Given the description of an element on the screen output the (x, y) to click on. 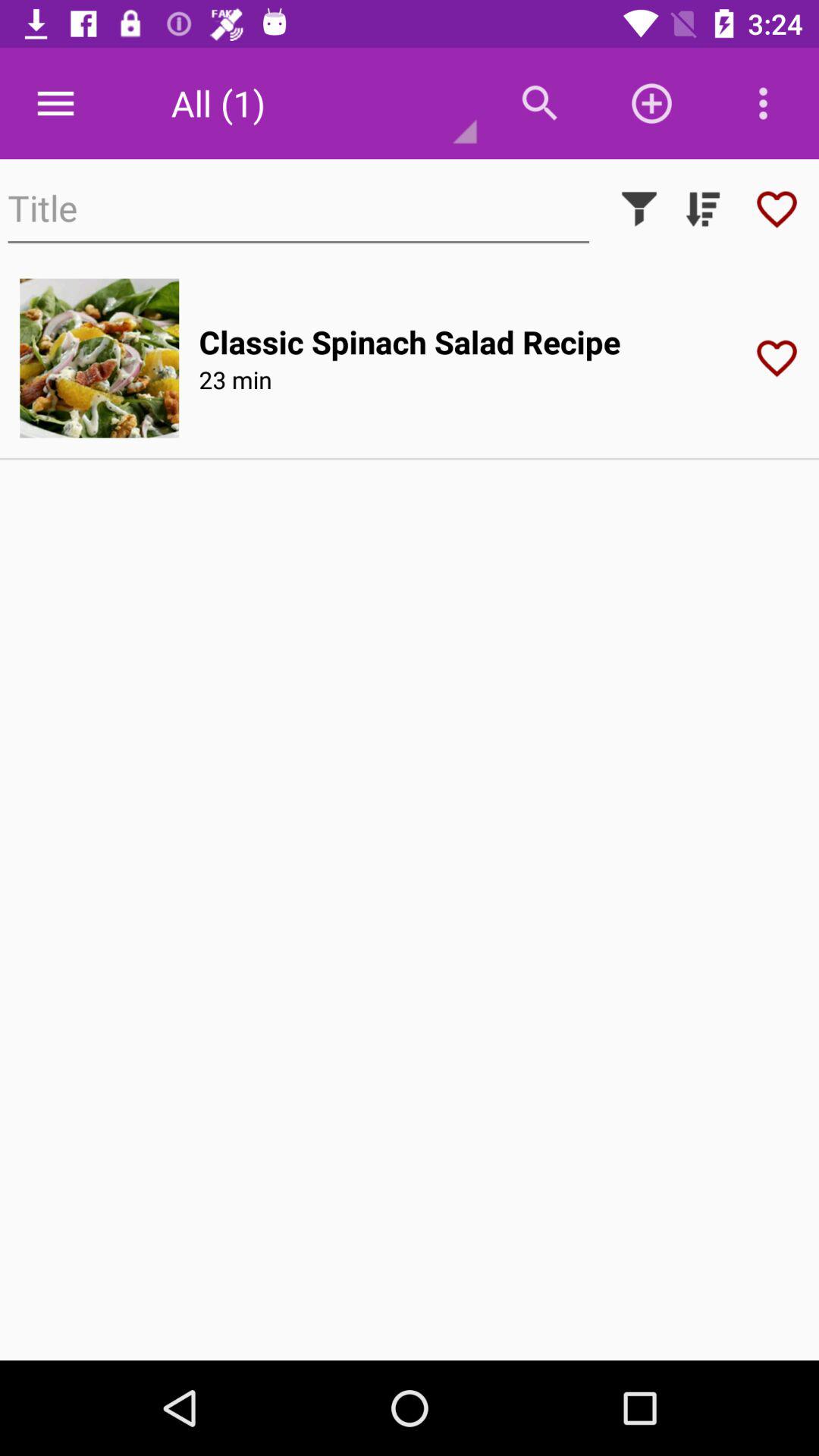
select the text to the left of menu bar (313, 102)
select the icon which is beside the text classic spinach salad recipe (782, 358)
click on add icon (651, 103)
select filter icon (638, 208)
select the options icon (763, 103)
